Given the description of an element on the screen output the (x, y) to click on. 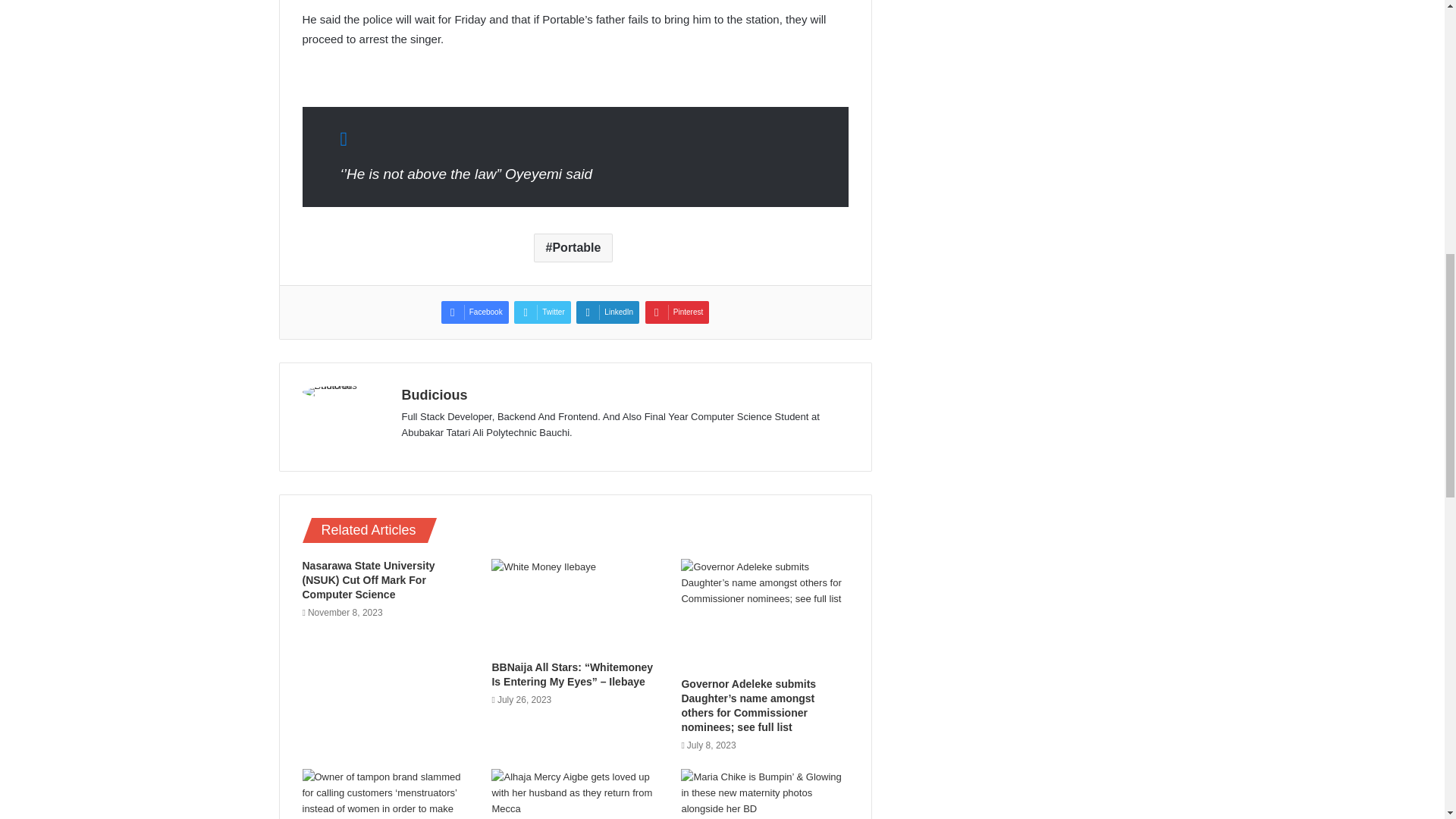
Twitter (541, 312)
Pinterest (677, 312)
Portable (573, 247)
Facebook (474, 312)
LinkedIn (607, 312)
